Given the description of an element on the screen output the (x, y) to click on. 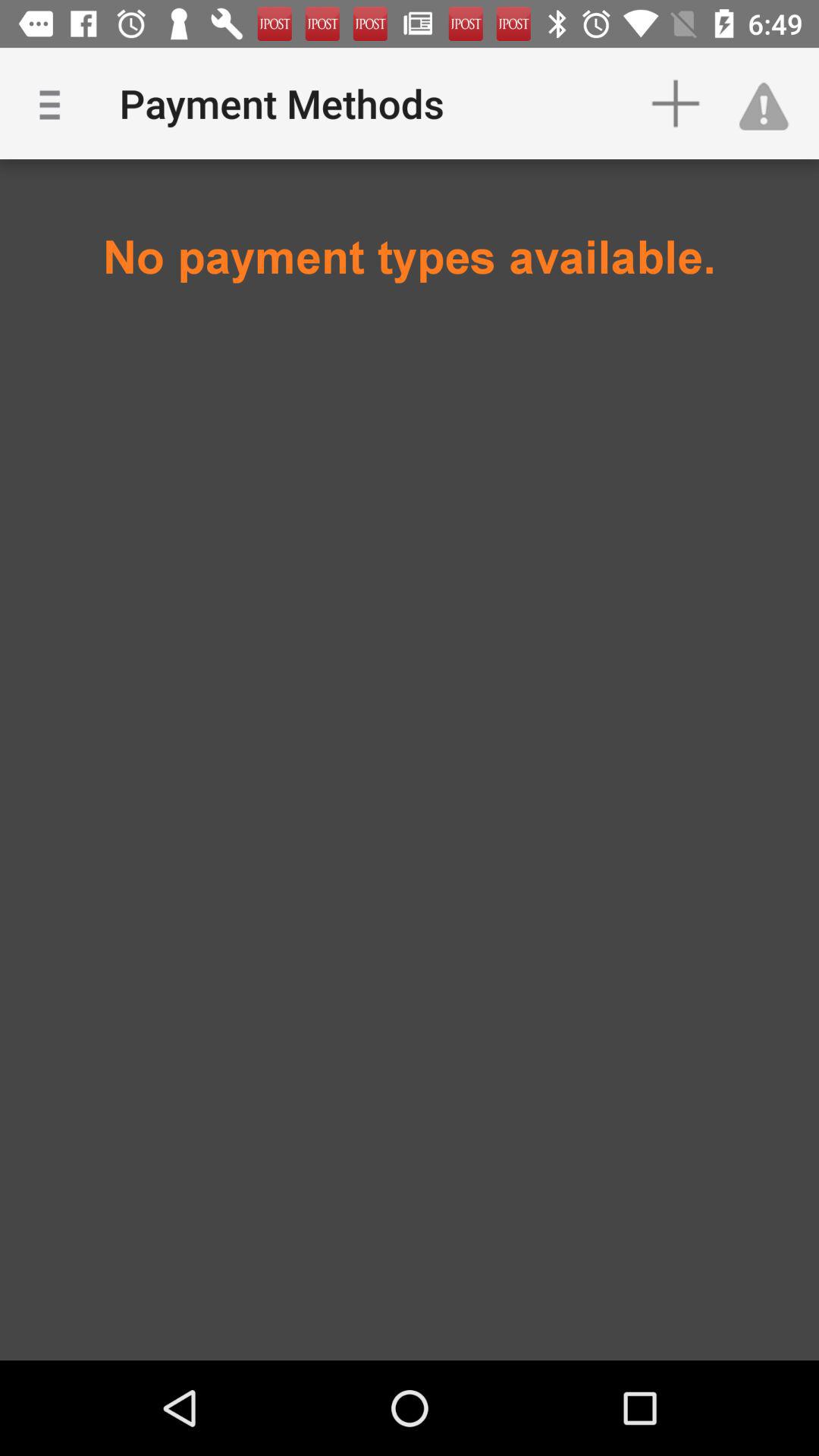
launch item above the no payment types item (675, 103)
